Given the description of an element on the screen output the (x, y) to click on. 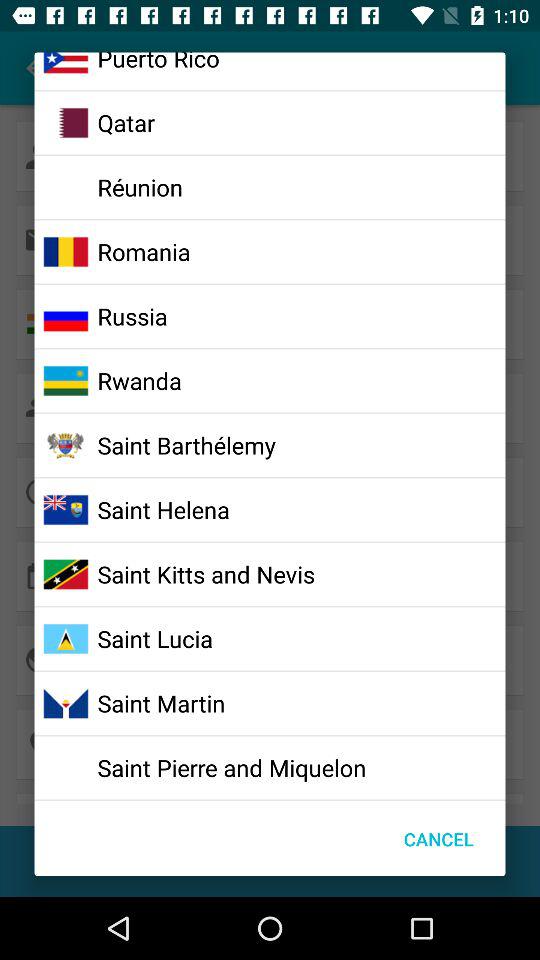
choose the cancel icon (438, 838)
